Given the description of an element on the screen output the (x, y) to click on. 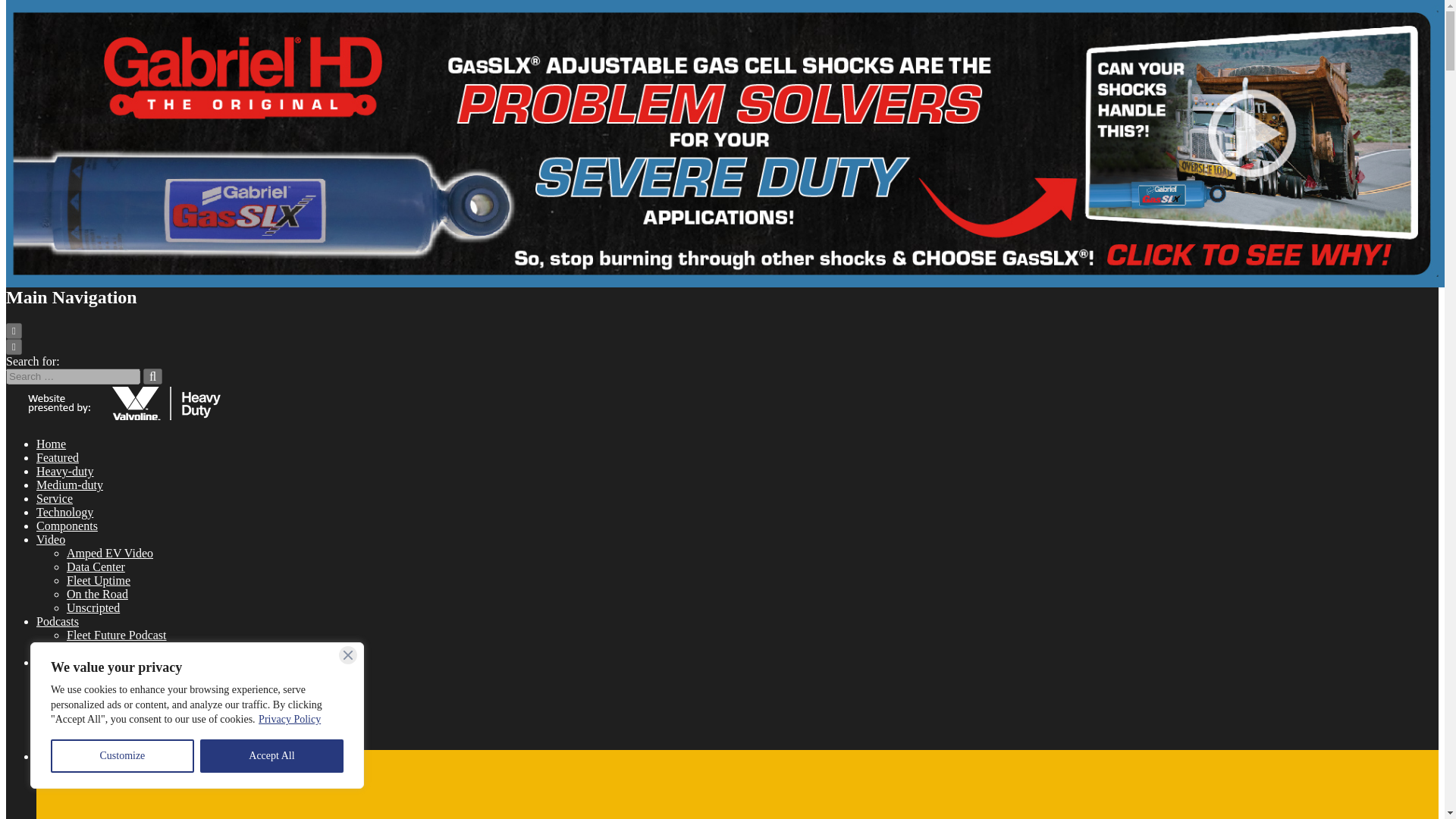
Unscripted (92, 607)
Home (50, 443)
Service (54, 498)
Privacy Policy (289, 718)
Medium-duty (69, 484)
Video (50, 539)
Home (50, 443)
Heavy-duty (65, 471)
Fleet Future Podcast (116, 634)
Sustainability by Volvo Trucks (111, 662)
Amped EV Video (109, 553)
Components (66, 525)
On the Road (97, 594)
Fleet Uptime (98, 580)
Amped EV Podcast (113, 648)
